Given the description of an element on the screen output the (x, y) to click on. 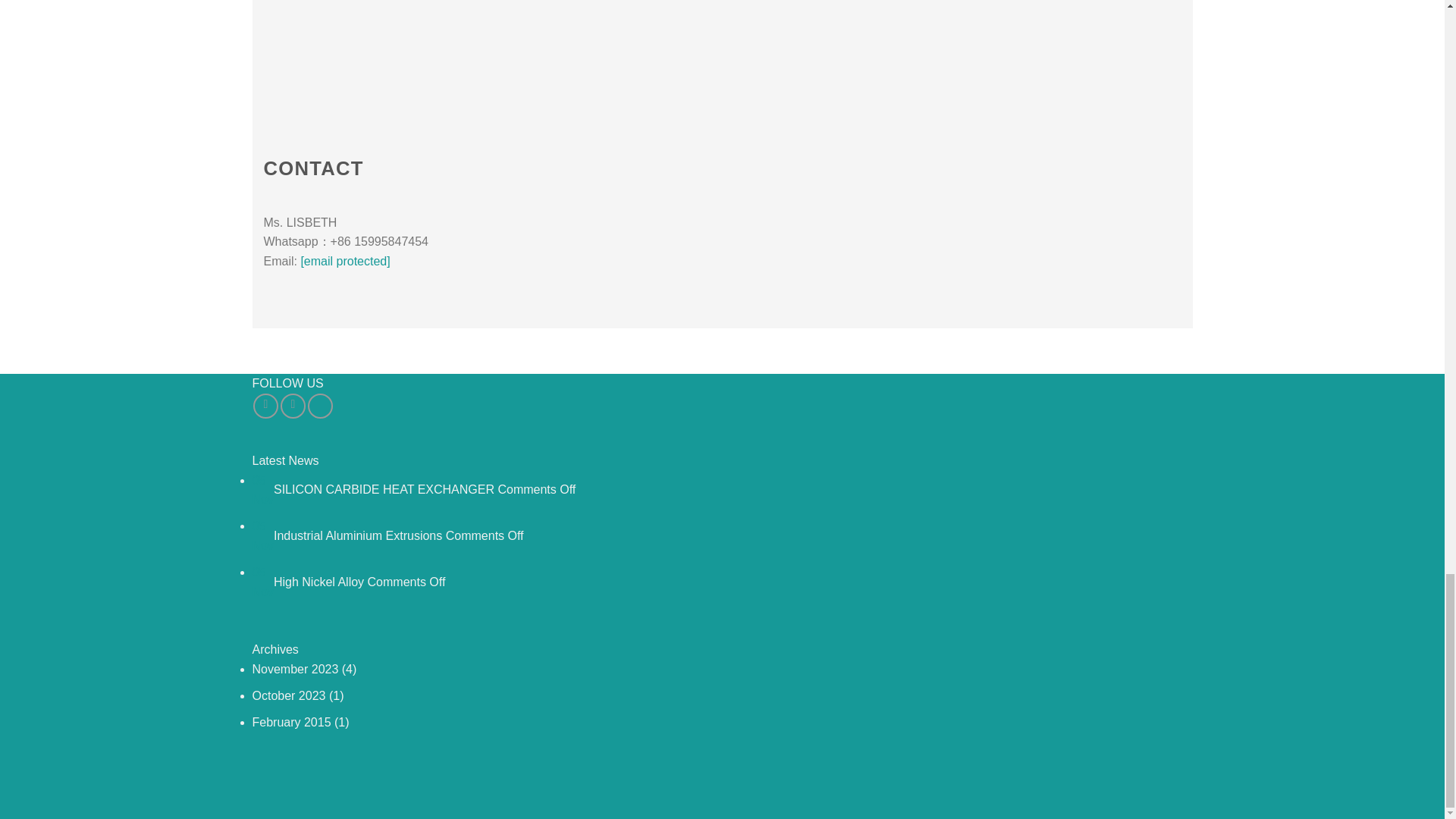
SILICON CARBIDE HEAT EXCHANGER (384, 489)
Send us an email (293, 405)
High Nickel Alloy (318, 581)
Industrial Aluminium Extrusions (357, 535)
Follow on Facebook (265, 405)
Follow on LinkedIn (320, 405)
